Given the description of an element on the screen output the (x, y) to click on. 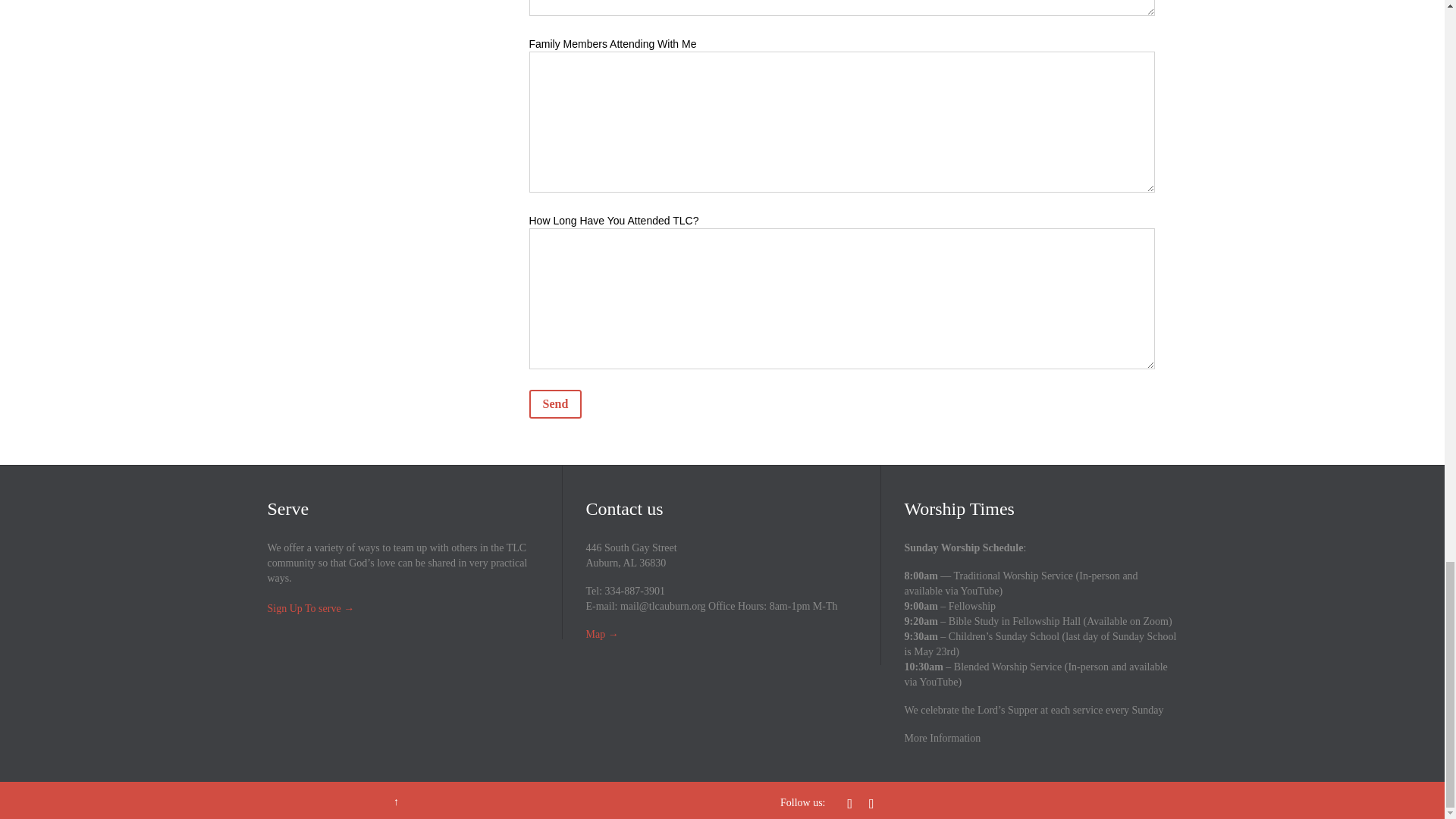
Map (595, 633)
Send (555, 403)
Send (555, 403)
Sign Up To serve (303, 608)
More Information (941, 737)
